Given the description of an element on the screen output the (x, y) to click on. 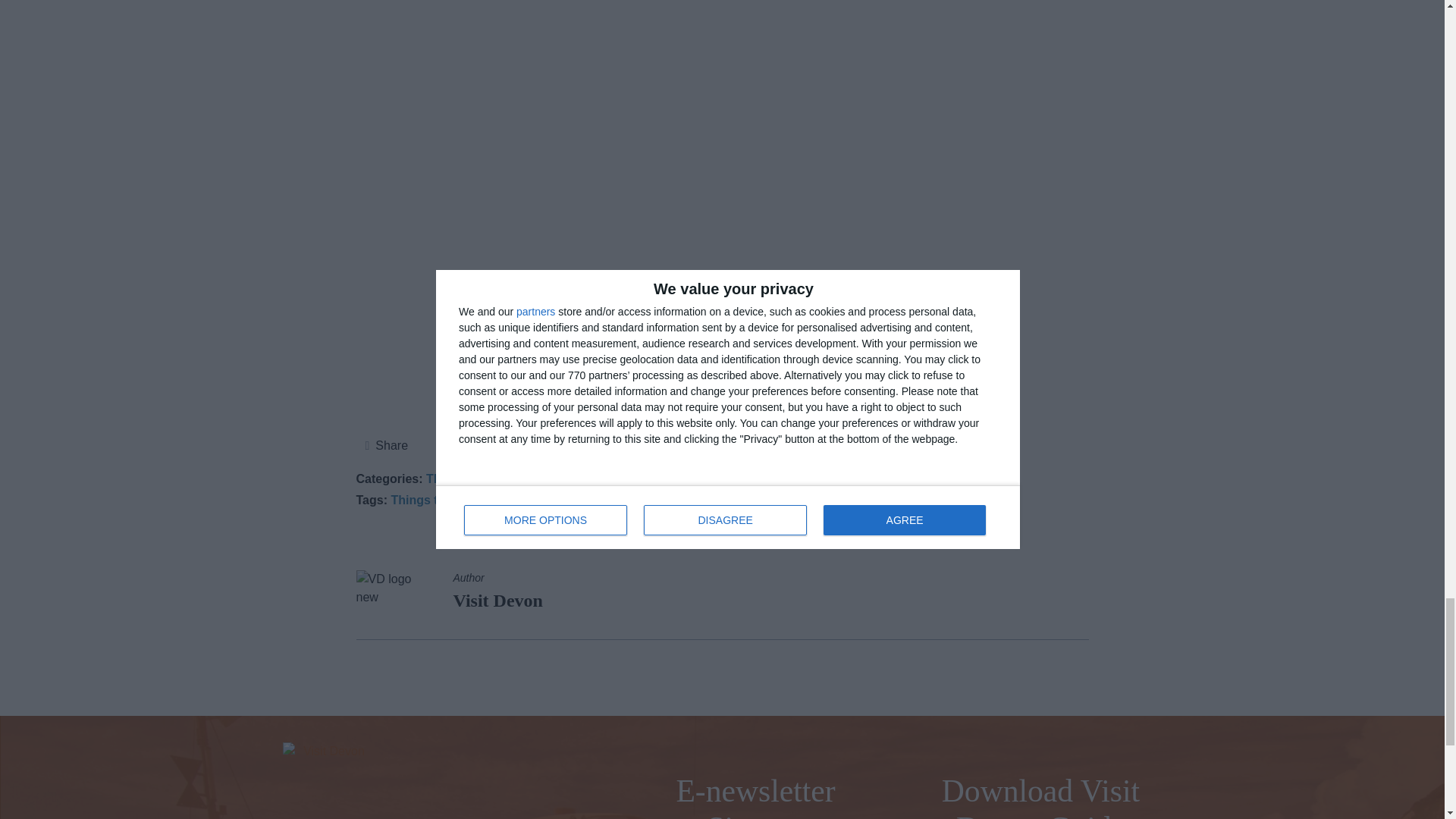
Download Visit Devon Guide (1039, 796)
E-newsletter Sign up (754, 796)
